Given the description of an element on the screen output the (x, y) to click on. 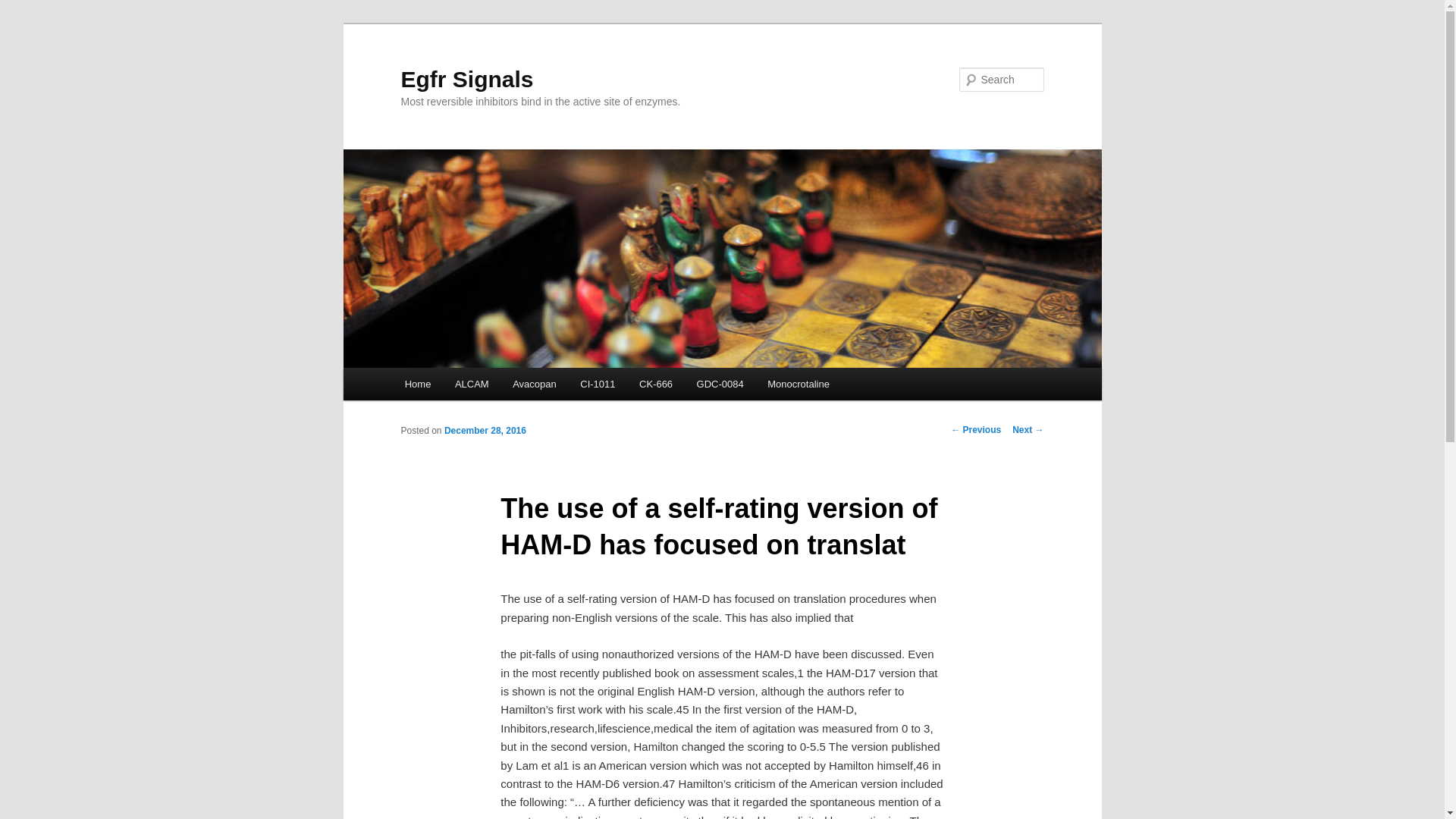
Home (417, 383)
Egfr Signals (466, 78)
1:40 am (484, 430)
Skip to secondary content (479, 386)
Skip to primary content (472, 386)
December 28, 2016 (484, 430)
Egfr Signals (466, 78)
ALCAM (471, 383)
Search (24, 8)
CI-1011 (598, 383)
